Given the description of an element on the screen output the (x, y) to click on. 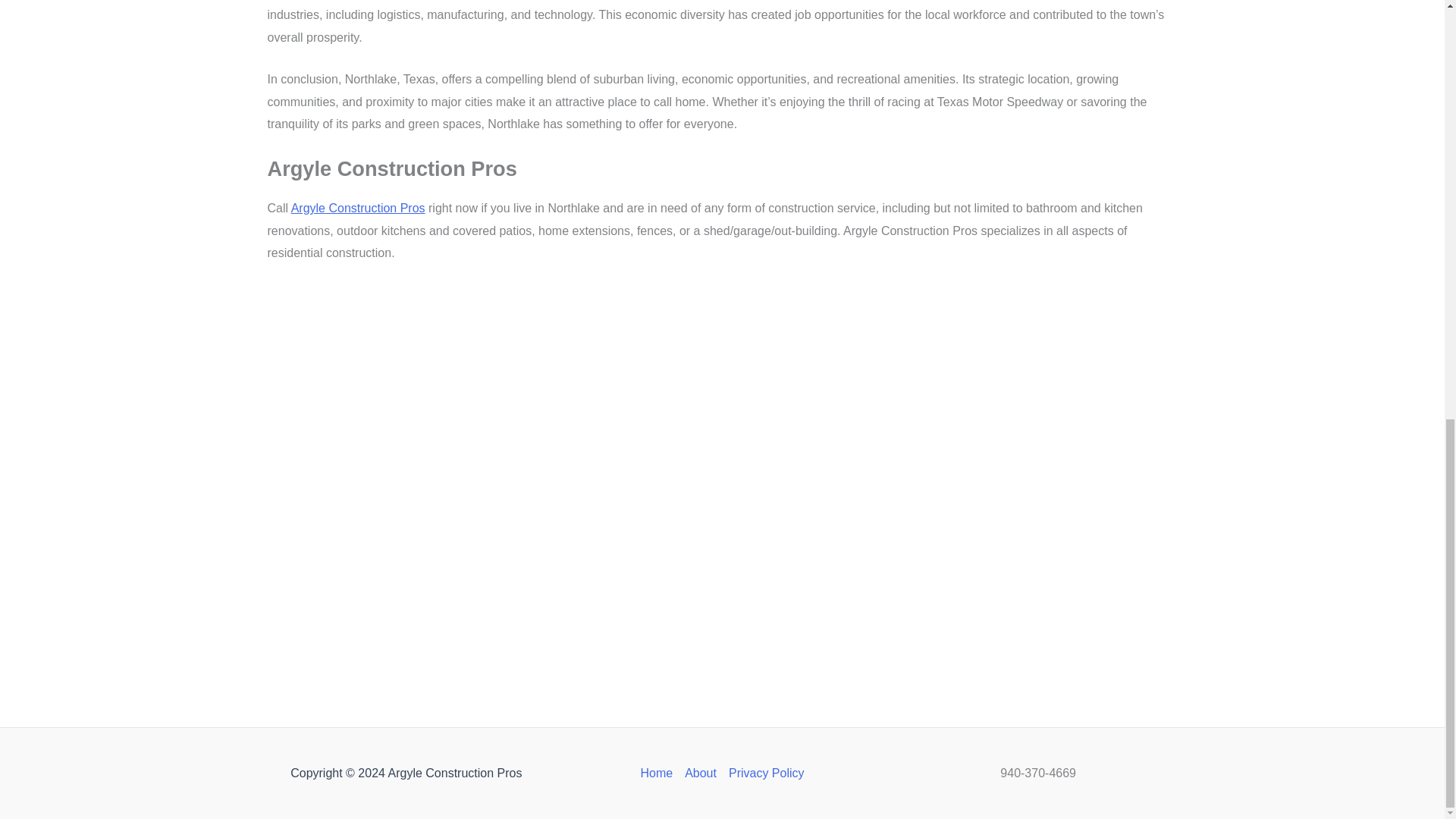
Argyle Construction Pros (358, 207)
